Given the description of an element on the screen output the (x, y) to click on. 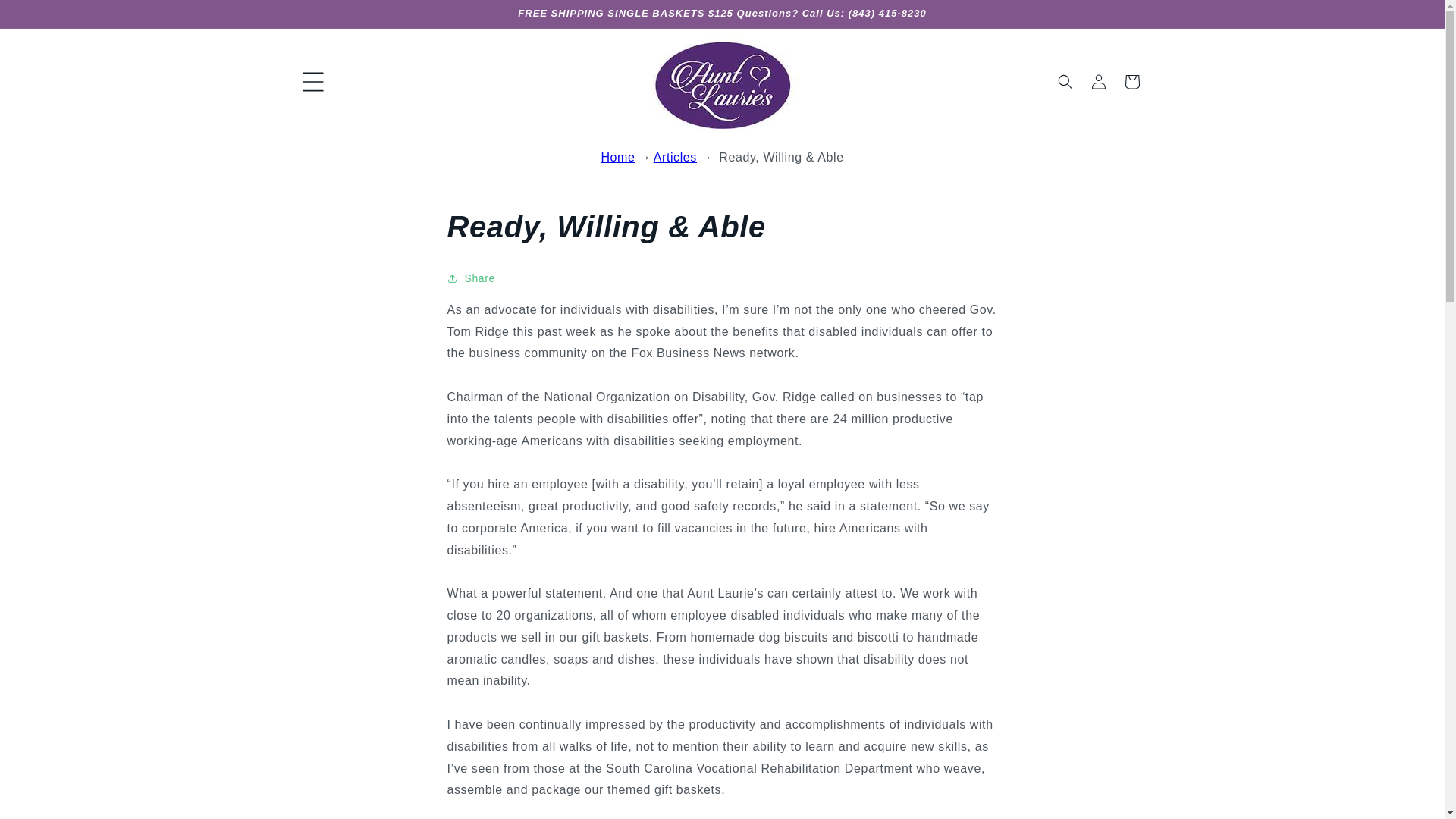
Skip to content (46, 18)
